Given the description of an element on the screen output the (x, y) to click on. 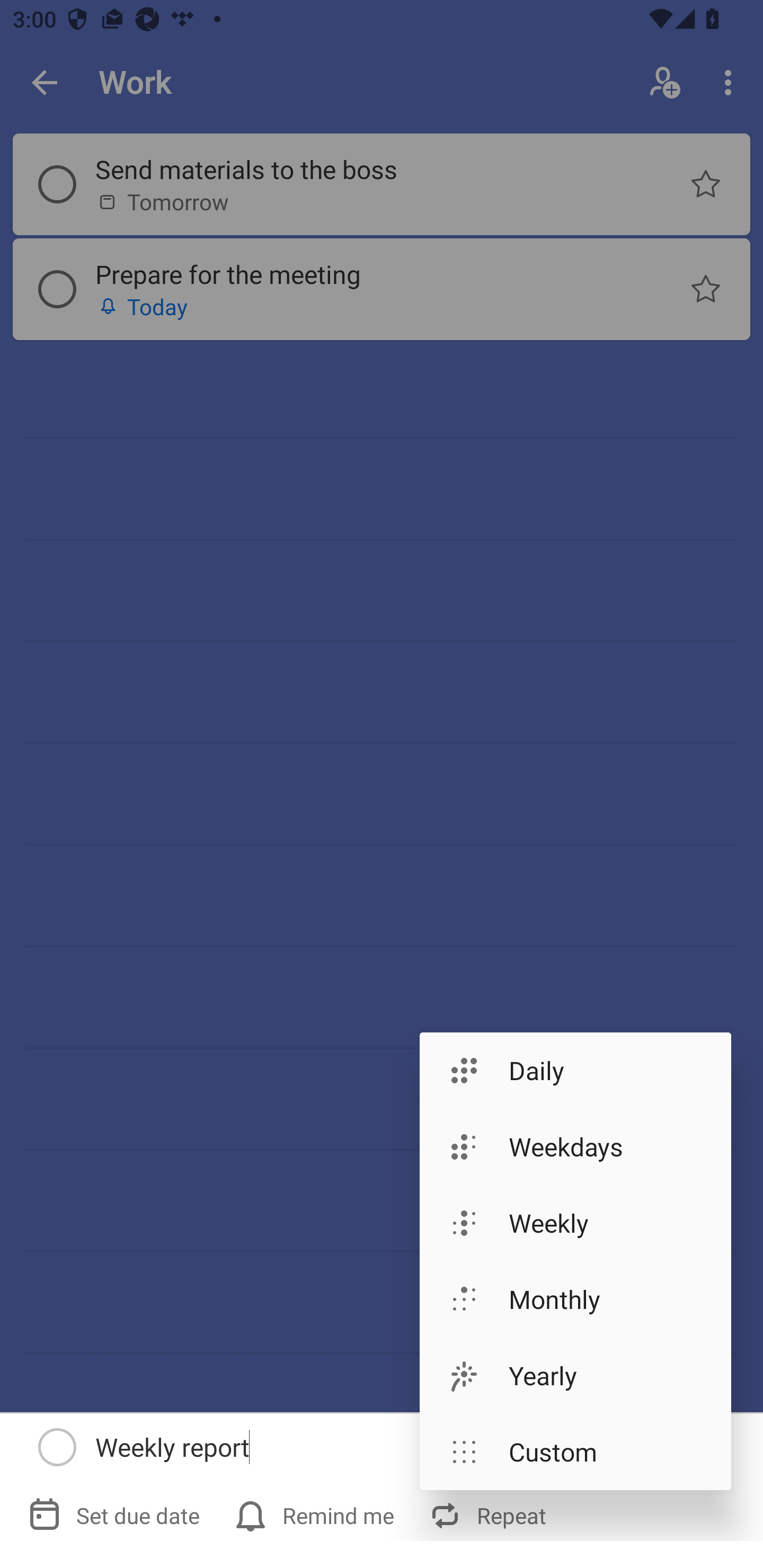
Custom6 in 6 Custom (574, 1451)
